Given the description of an element on the screen output the (x, y) to click on. 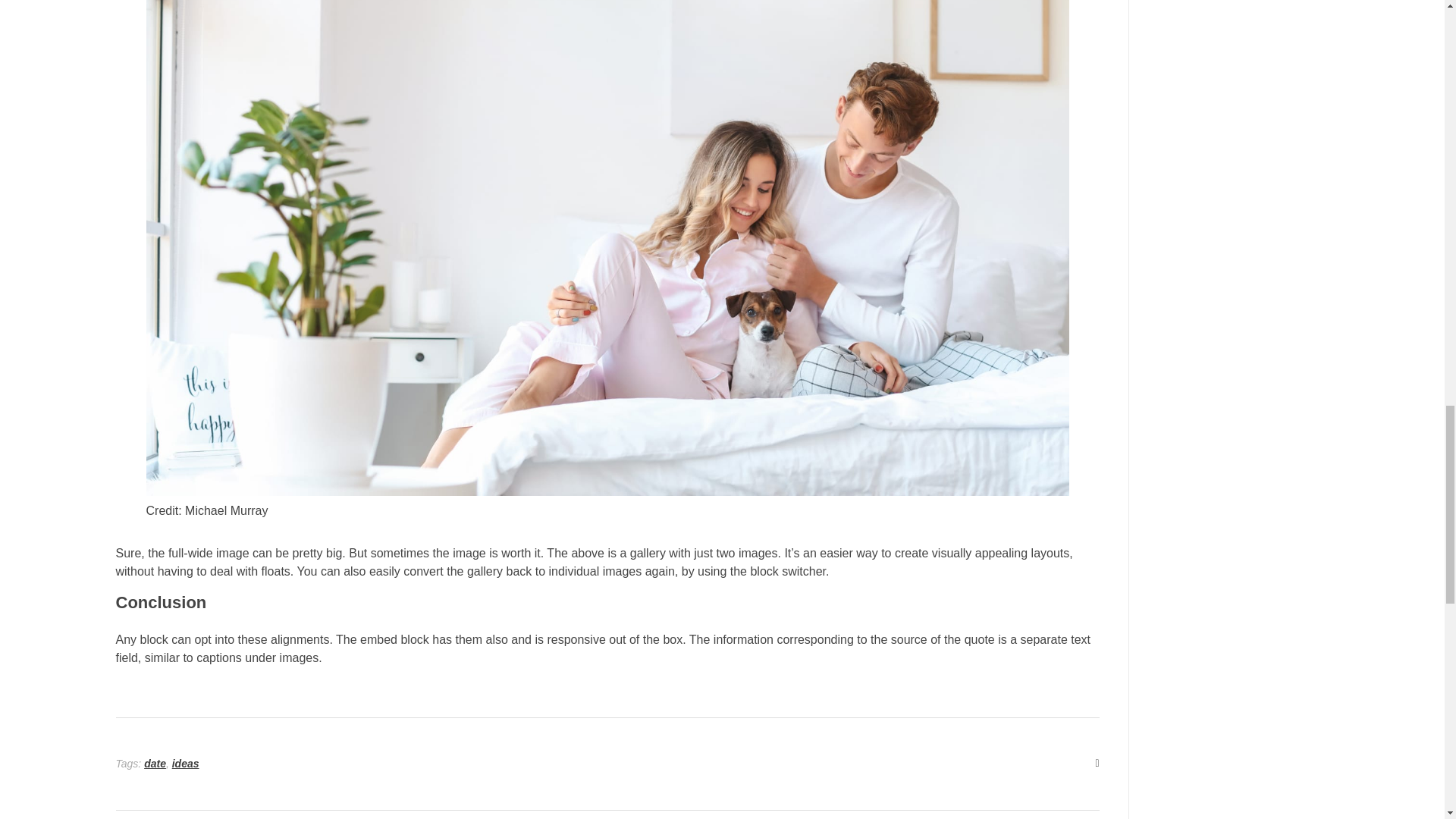
date (154, 763)
ideas (185, 763)
